Given the description of an element on the screen output the (x, y) to click on. 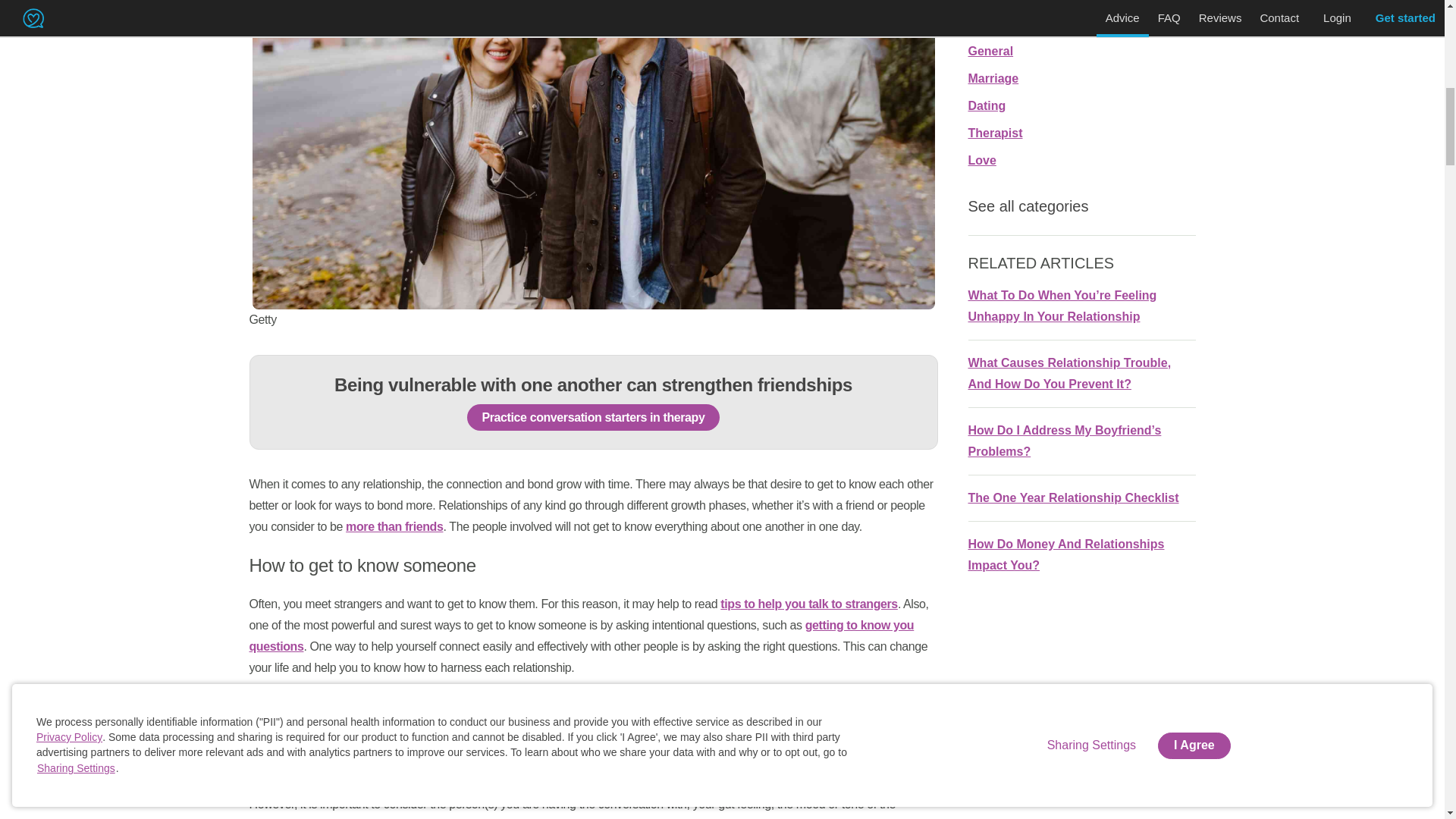
The One Year Relationship Checklist (1072, 497)
How Do Money And Relationships Impact You? (1065, 554)
See all categories (1081, 206)
more than friends (394, 526)
Dating (987, 105)
tips to help you talk to strangers (809, 603)
General (990, 51)
Love (981, 160)
Therapist (995, 132)
getting to know you questions (581, 635)
What Causes Relationship Trouble, And How Do You Prevent It? (1069, 373)
Practice conversation starters in therapy (593, 417)
Marriage (992, 78)
